Given the description of an element on the screen output the (x, y) to click on. 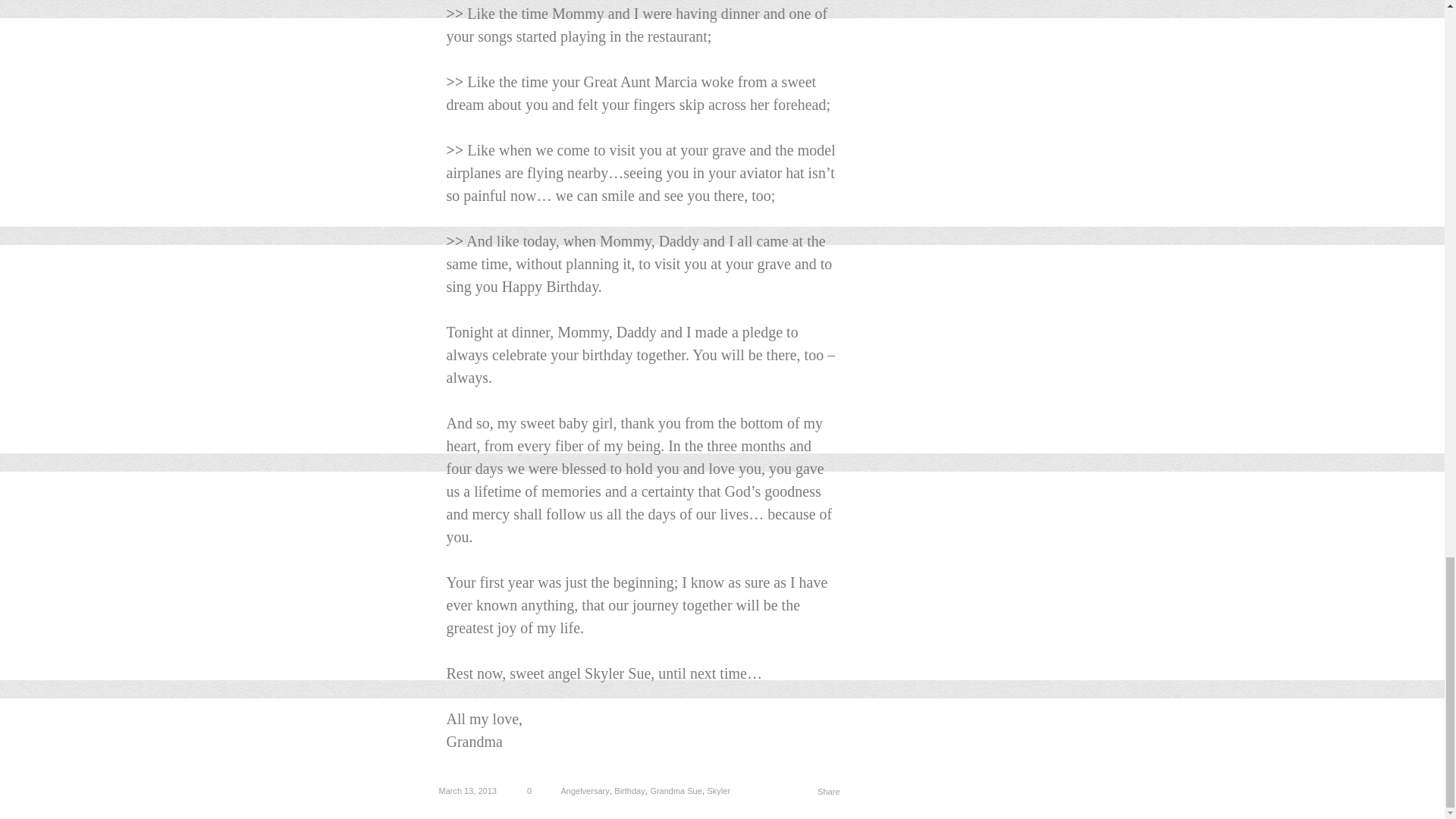
March 13, 2013 (468, 790)
Birthday (629, 790)
Grandma Sue (675, 790)
Share (828, 791)
Angelversary (584, 790)
Skyler (718, 790)
